Given the description of an element on the screen output the (x, y) to click on. 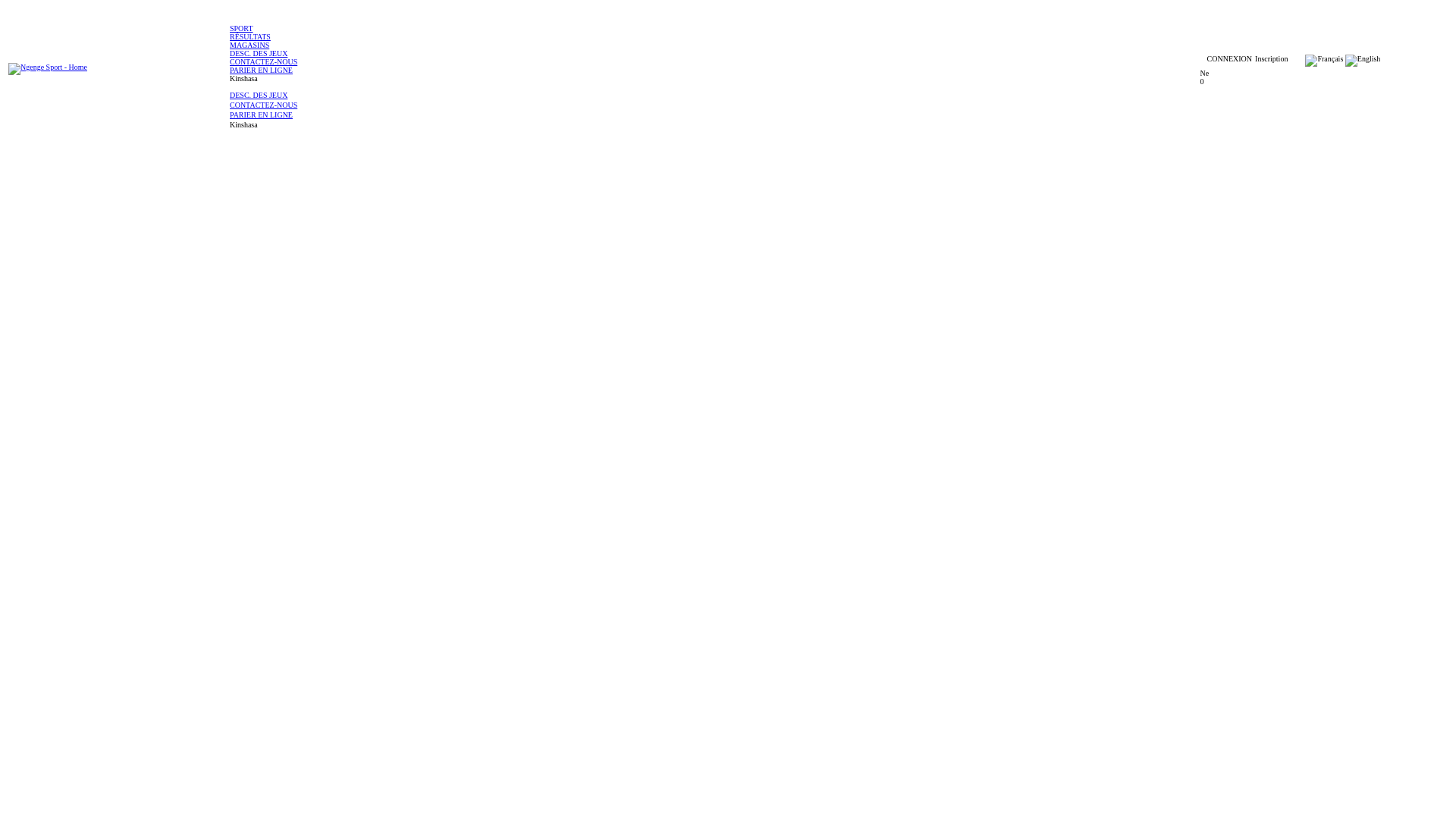
CONTACTEZ-NOUS Element type: text (713, 104)
Inscription Element type: text (1271, 58)
PARIER EN LIGNE Element type: text (713, 114)
MAGASINS Element type: text (713, 44)
Kinshasa Element type: text (305, 124)
SPORT Element type: text (713, 28)
DESC. DES JEUX Element type: text (713, 95)
CONNEXION Element type: text (1229, 58)
DESC. DES JEUX Element type: text (713, 53)
English Element type: hover (1362, 60)
Kinshasa Element type: text (274, 78)
CONTACTEZ-NOUS Element type: text (713, 61)
PARIER EN LIGNE Element type: text (713, 69)
